Given the description of an element on the screen output the (x, y) to click on. 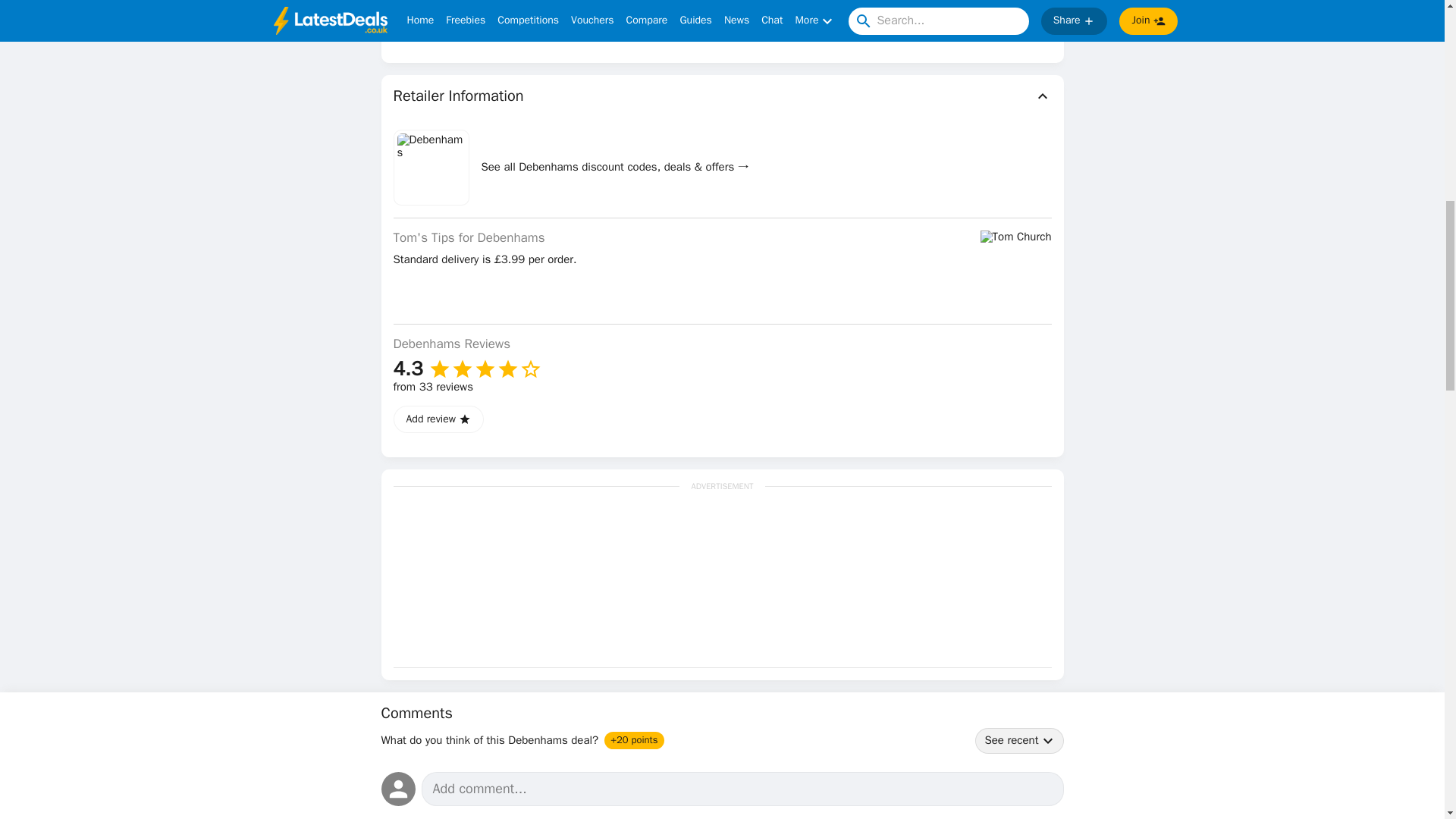
Ballard61 (443, 818)
